Given the description of an element on the screen output the (x, y) to click on. 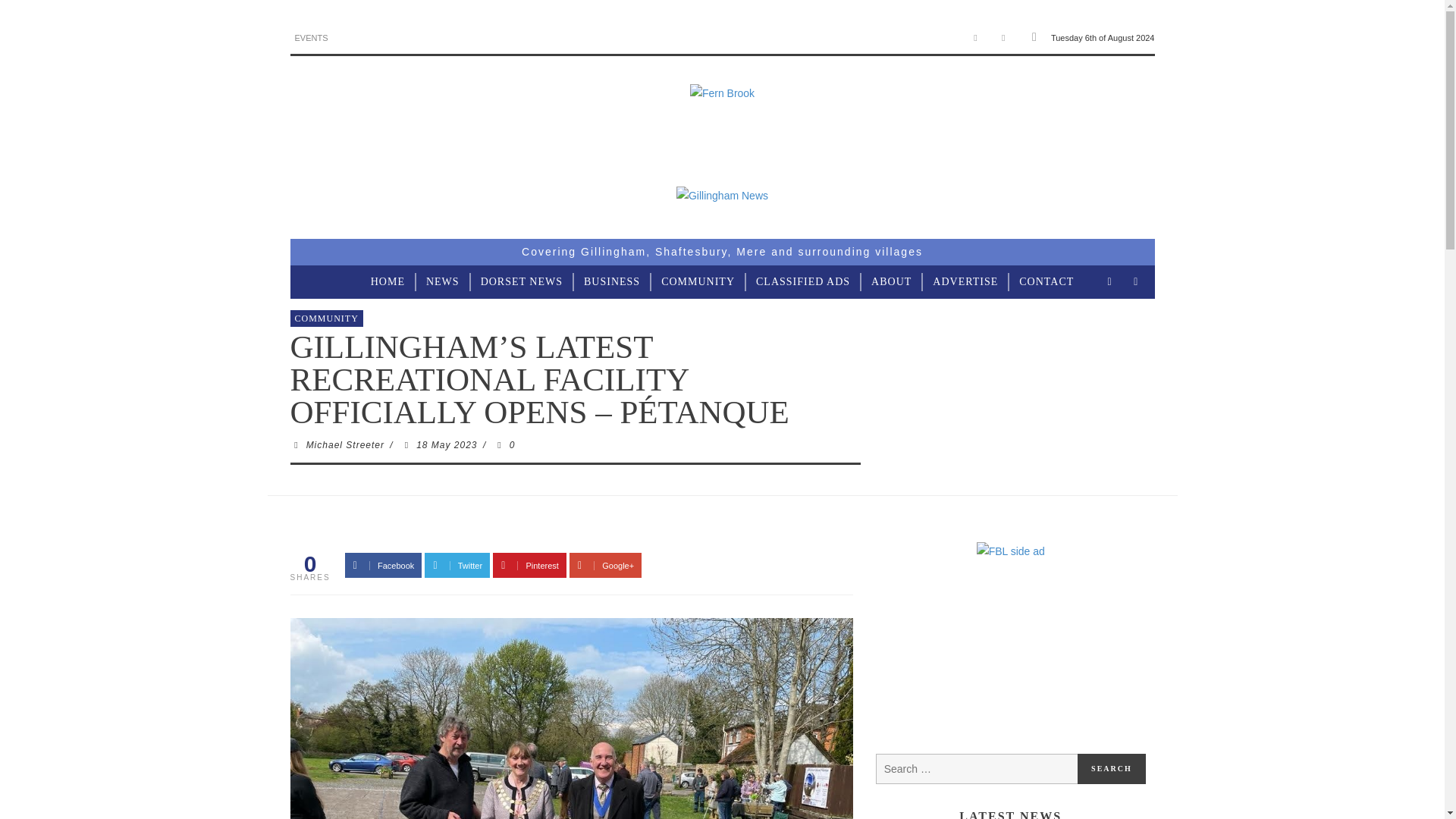
Search (1111, 768)
Share to Twitter (457, 565)
Facebook (975, 38)
ABOUT (890, 282)
DORSET NEWS (521, 282)
View all posts in Community (326, 317)
HOME (387, 282)
0 (504, 444)
EVENTS (310, 38)
CONTACT (1046, 282)
